Given the description of an element on the screen output the (x, y) to click on. 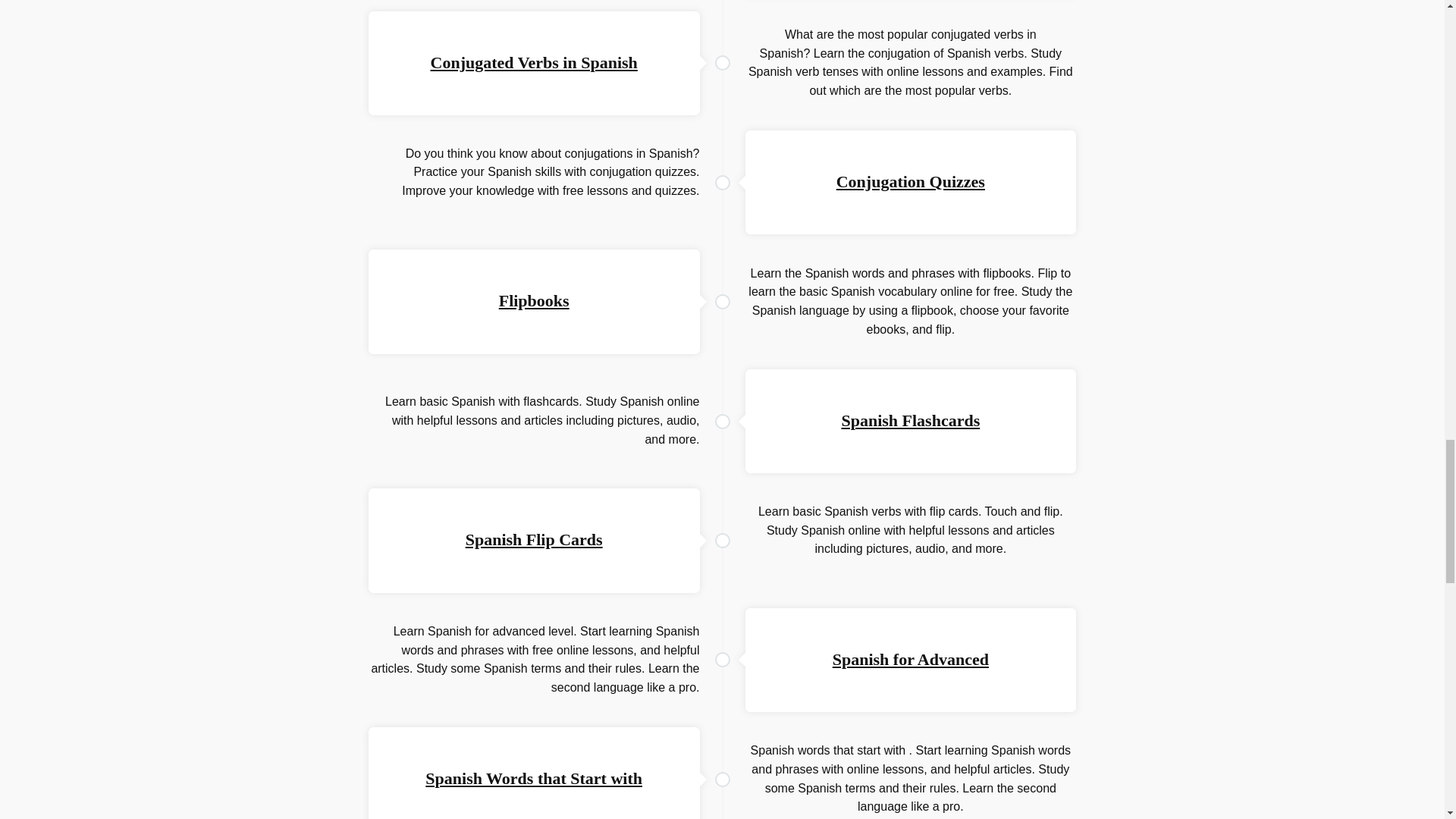
Flipbooks (534, 300)
Conjugated Verbs in Spanish (533, 62)
Spanish for Advanced (910, 659)
Spanish Words that Start with (533, 778)
Spanish Flip Cards (533, 538)
Spanish Flashcards (910, 420)
Conjugation Quizzes (910, 180)
